Given the description of an element on the screen output the (x, y) to click on. 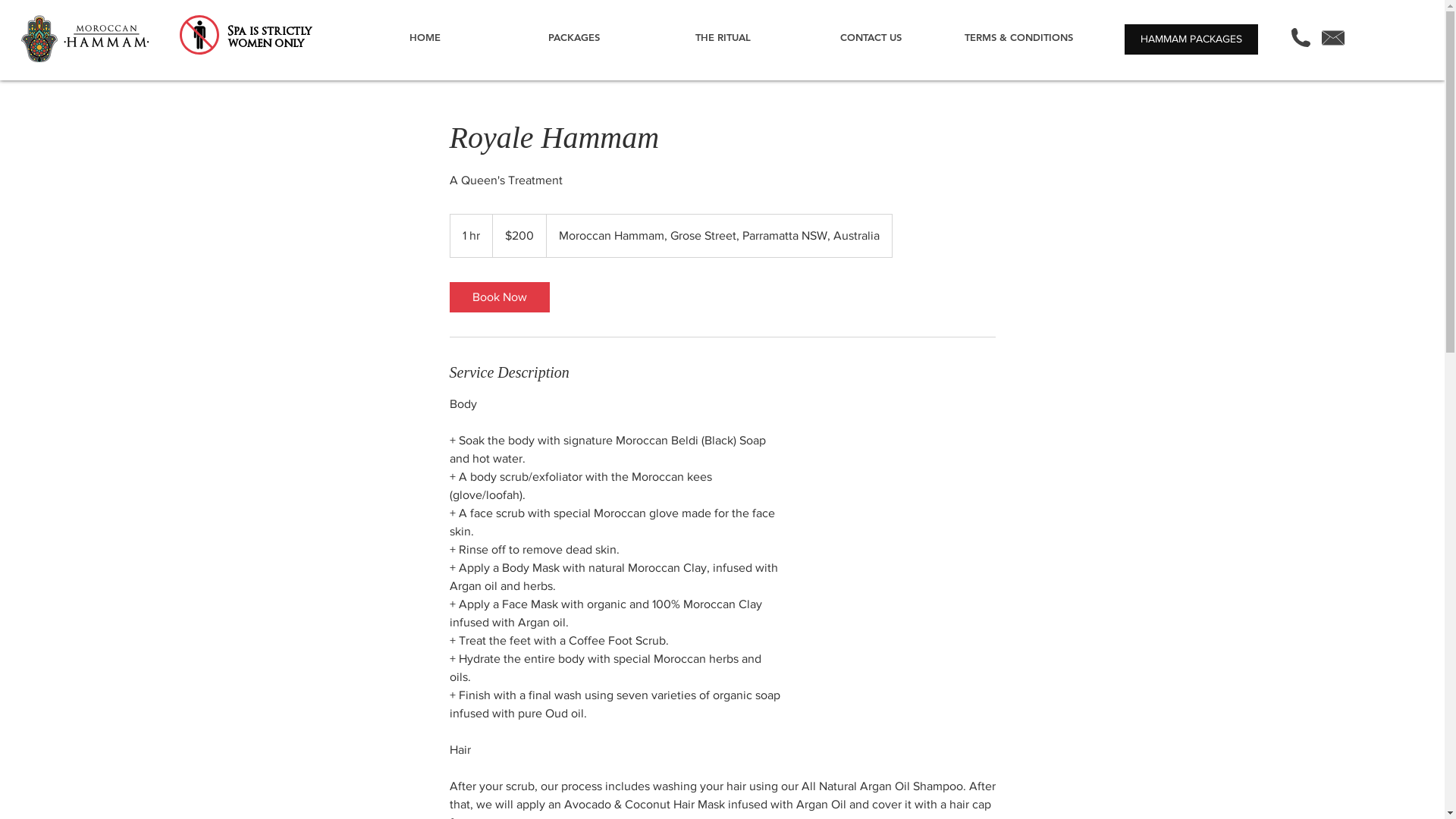
CONTACT US Element type: text (870, 36)
THE RITUAL Element type: text (721, 36)
HAMMAM PACKAGES Element type: text (1190, 39)
PACKAGES Element type: text (572, 36)
TERMS & CONDITIONS Element type: text (1018, 36)
Book Now Element type: text (498, 297)
HOME Element type: text (424, 36)
